Given the description of an element on the screen output the (x, y) to click on. 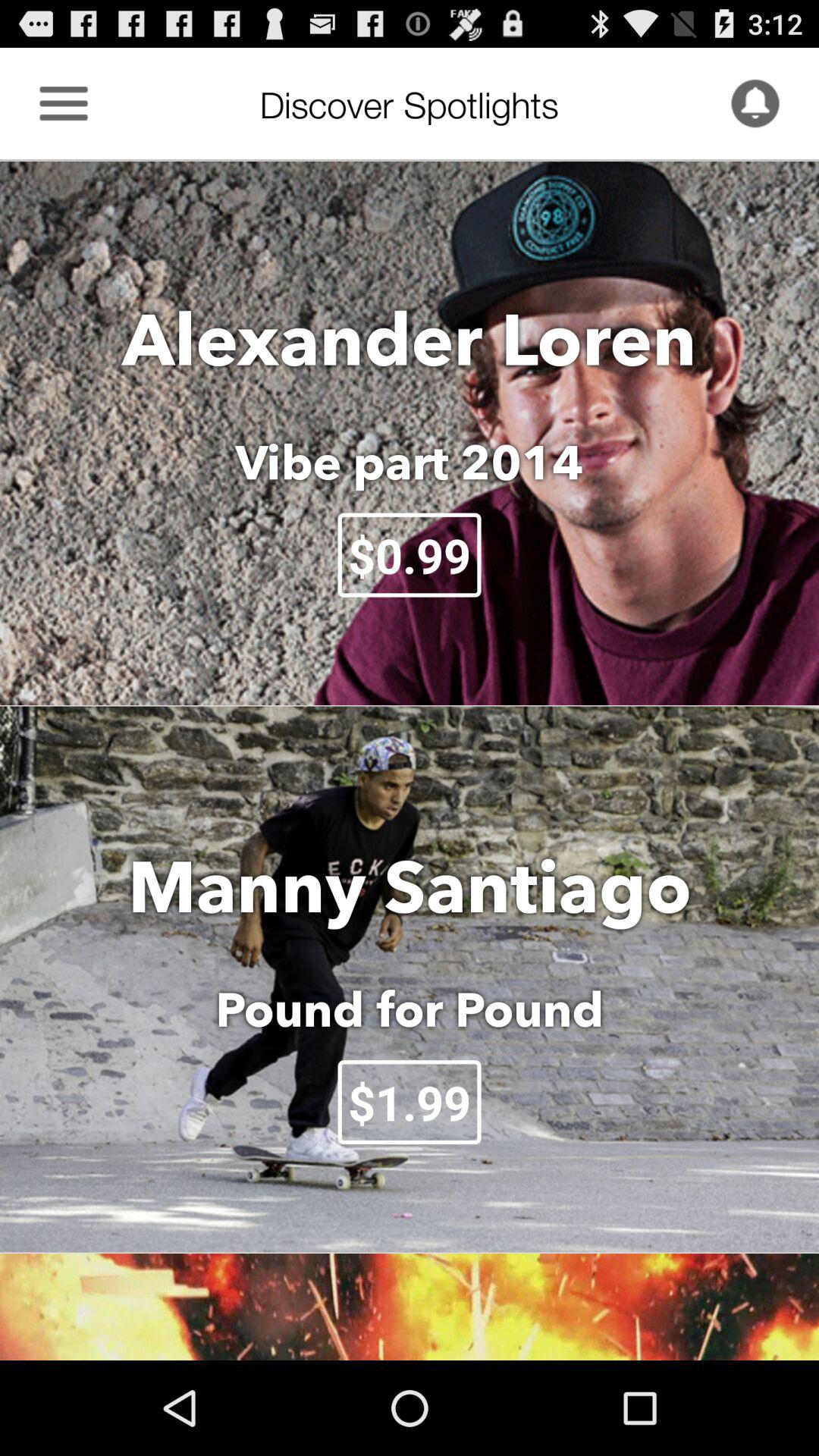
open menu (63, 103)
